Given the description of an element on the screen output the (x, y) to click on. 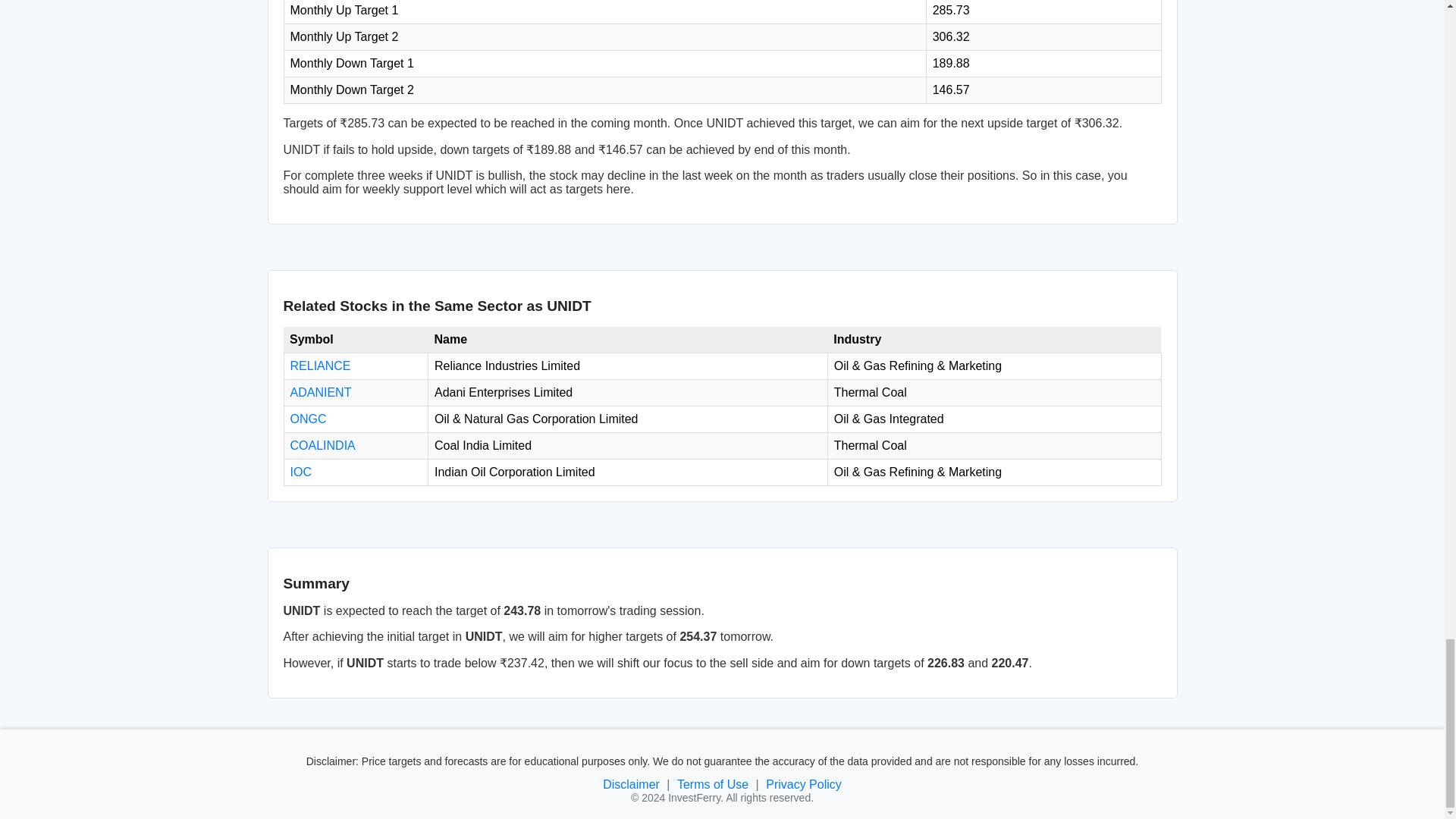
RELIANCE (319, 365)
COALINDIA (322, 445)
ONGC (307, 418)
ADANIENT (319, 391)
Terms of Use (712, 784)
IOC (300, 472)
Disclaimer (630, 784)
Privacy Policy (803, 784)
